Given the description of an element on the screen output the (x, y) to click on. 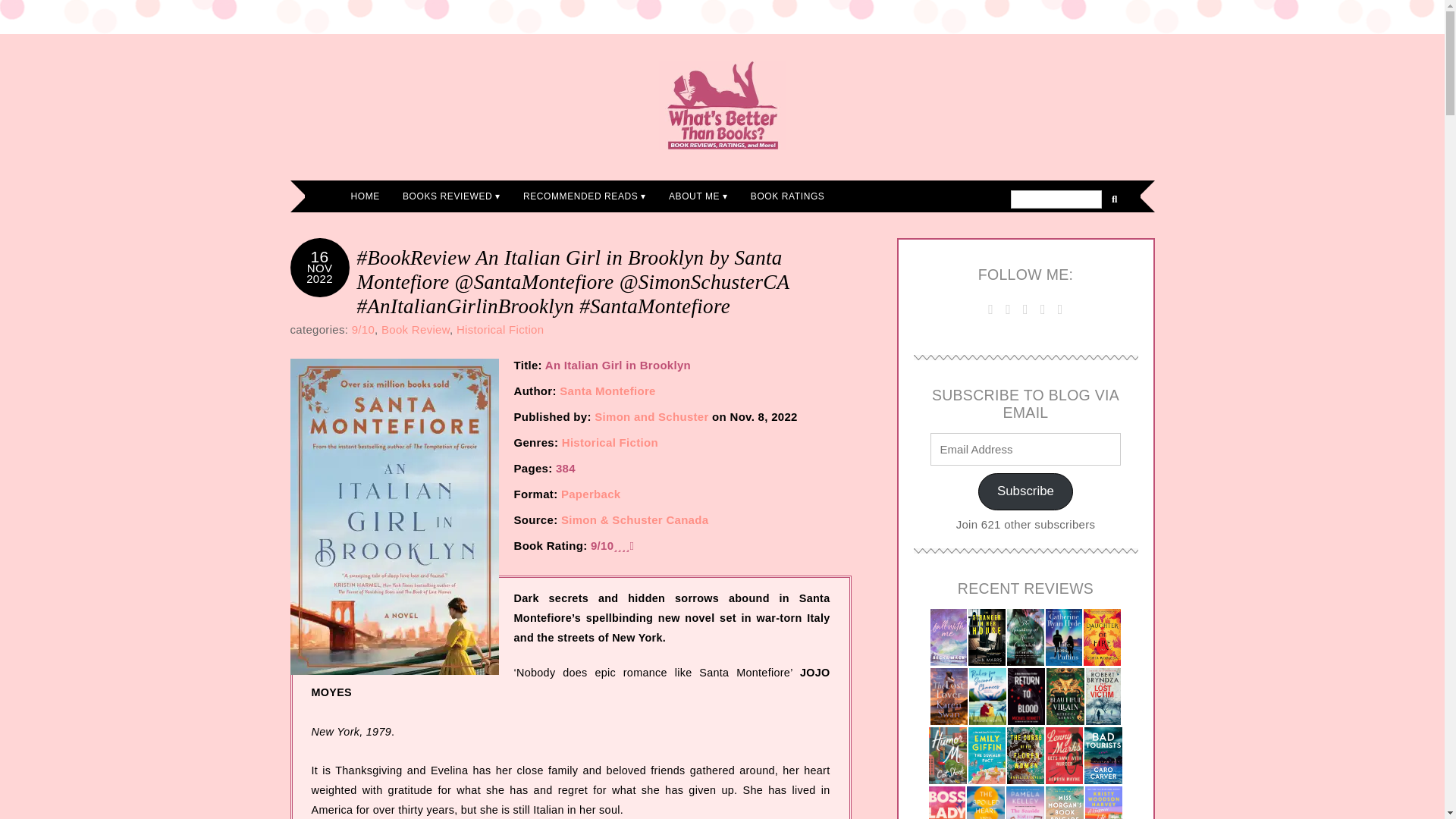
Simon and Schuster (650, 416)
Santa Montefiore (607, 390)
RECOMMENDED READS (585, 196)
What's Better Than Books? (722, 104)
BOOKS REVIEWED (451, 196)
Paperback (590, 493)
BOOK RATINGS (787, 196)
Book Review (415, 328)
HOME (365, 196)
Historical Fiction (500, 328)
16 (320, 255)
Search (1056, 199)
ABOUT ME (698, 196)
Historical Fiction (610, 441)
